Given the description of an element on the screen output the (x, y) to click on. 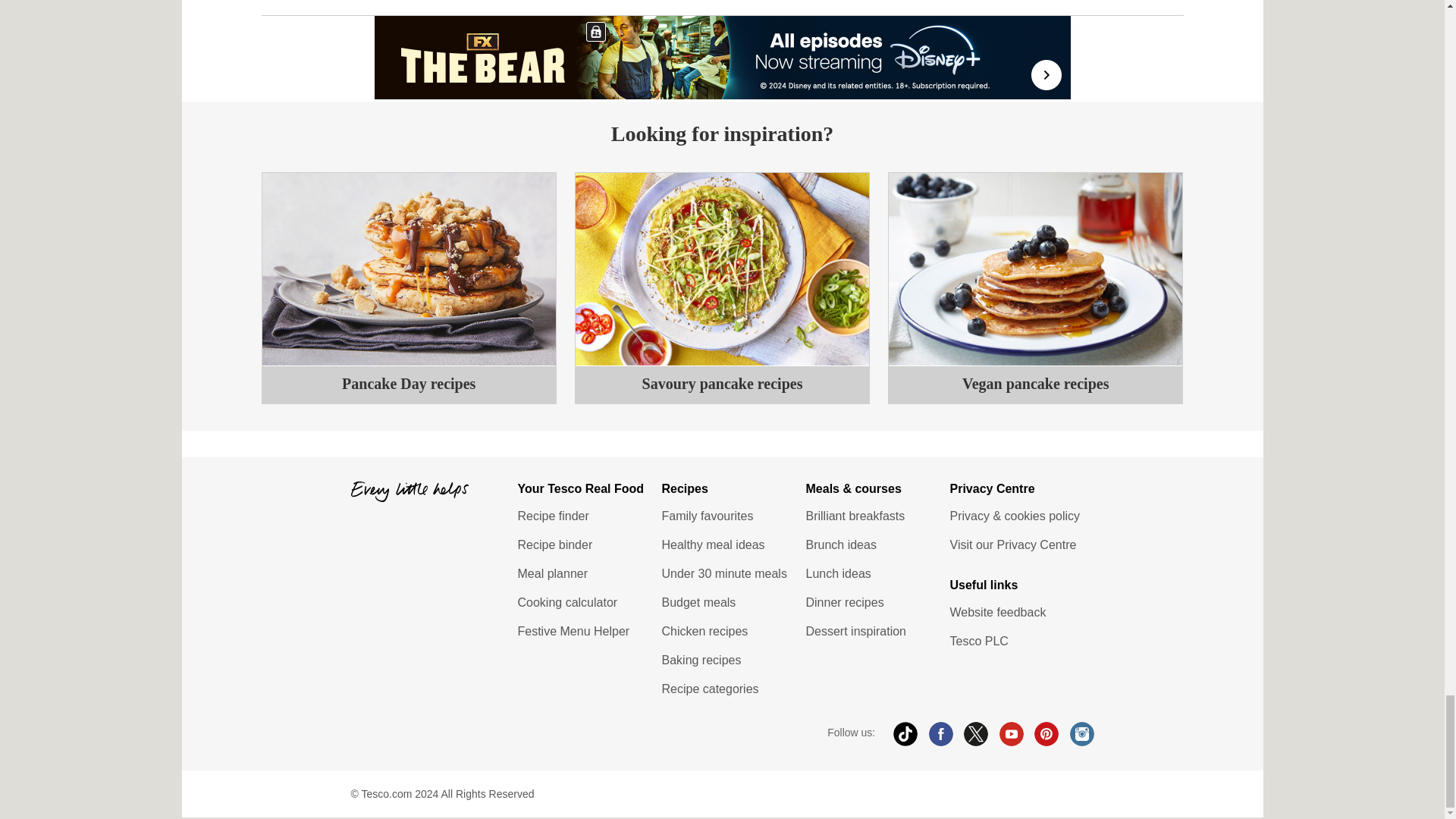
3rd party ad content (722, 57)
